Given the description of an element on the screen output the (x, y) to click on. 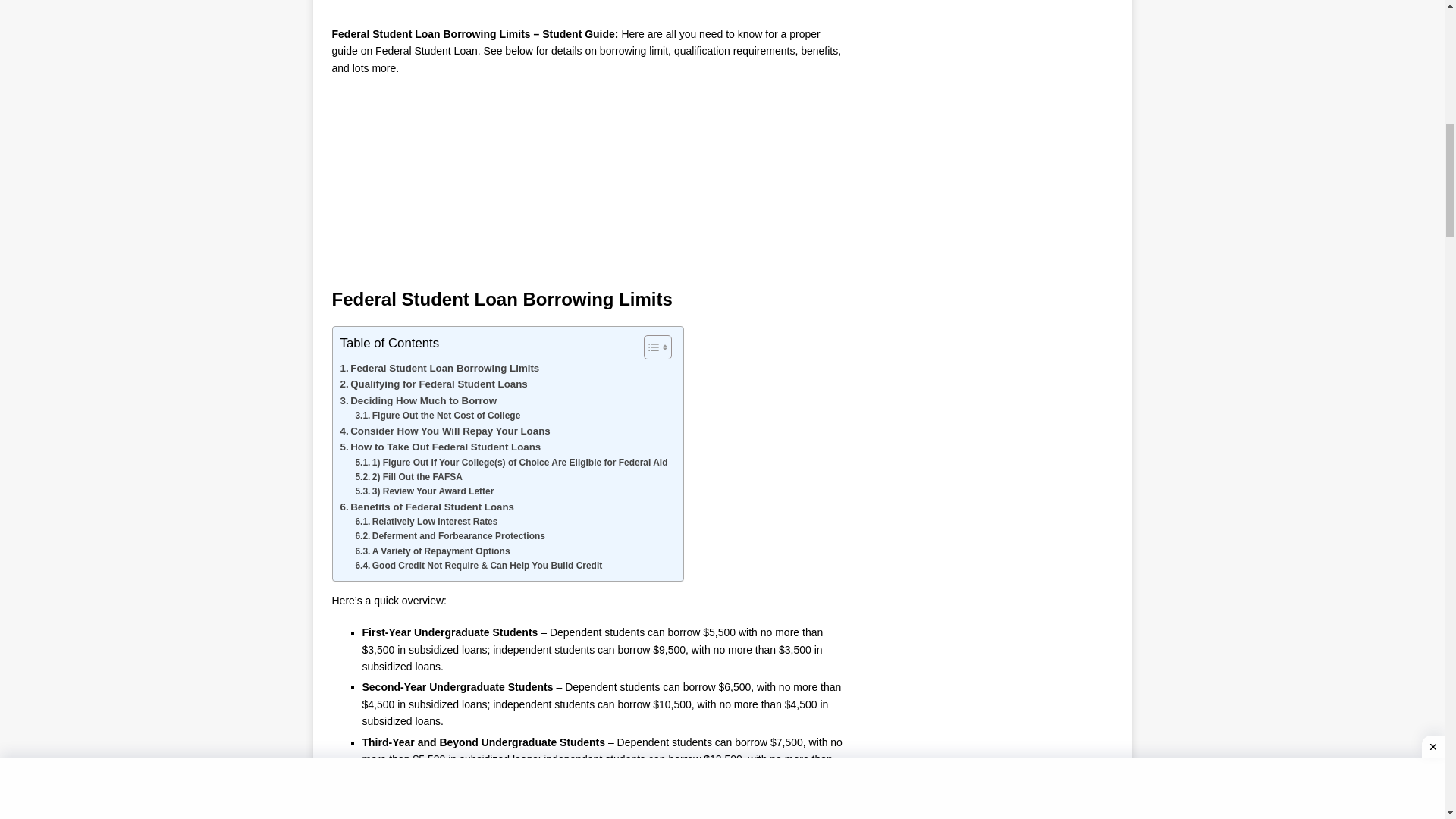
How to Take Out Federal Student Loans (439, 446)
Figure Out the Net Cost of College (437, 415)
Consider How You Will Repay Your Loans (444, 430)
Deciding How Much to Borrow (417, 400)
Federal Student Loan Borrowing Limits (438, 367)
Qualifying for Federal Student Loans (433, 383)
